Given the description of an element on the screen output the (x, y) to click on. 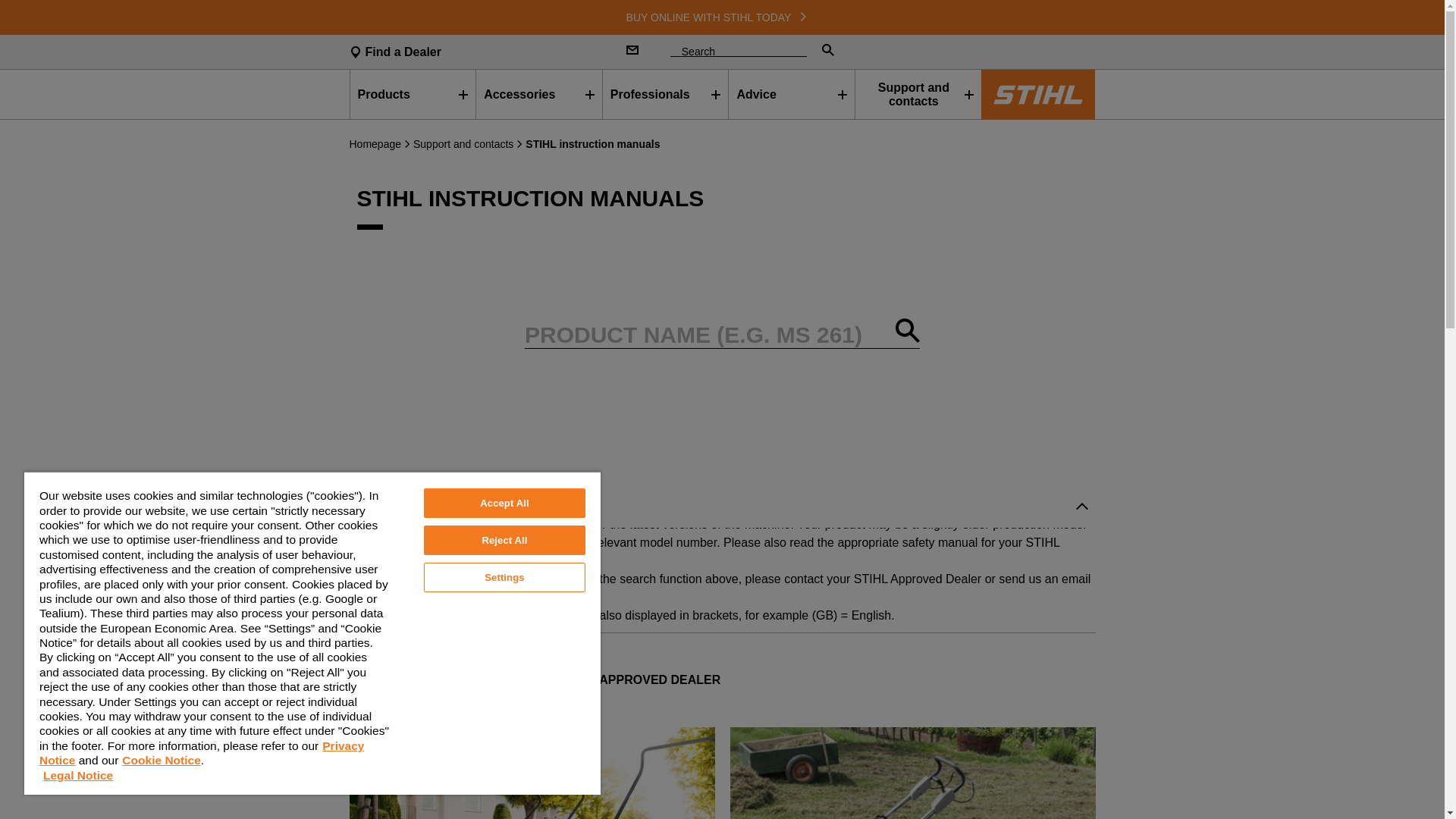
Find a Dealer (475, 51)
BUY ONLINE WITH STIHL TODAY (721, 17)
Products (413, 93)
